Given the description of an element on the screen output the (x, y) to click on. 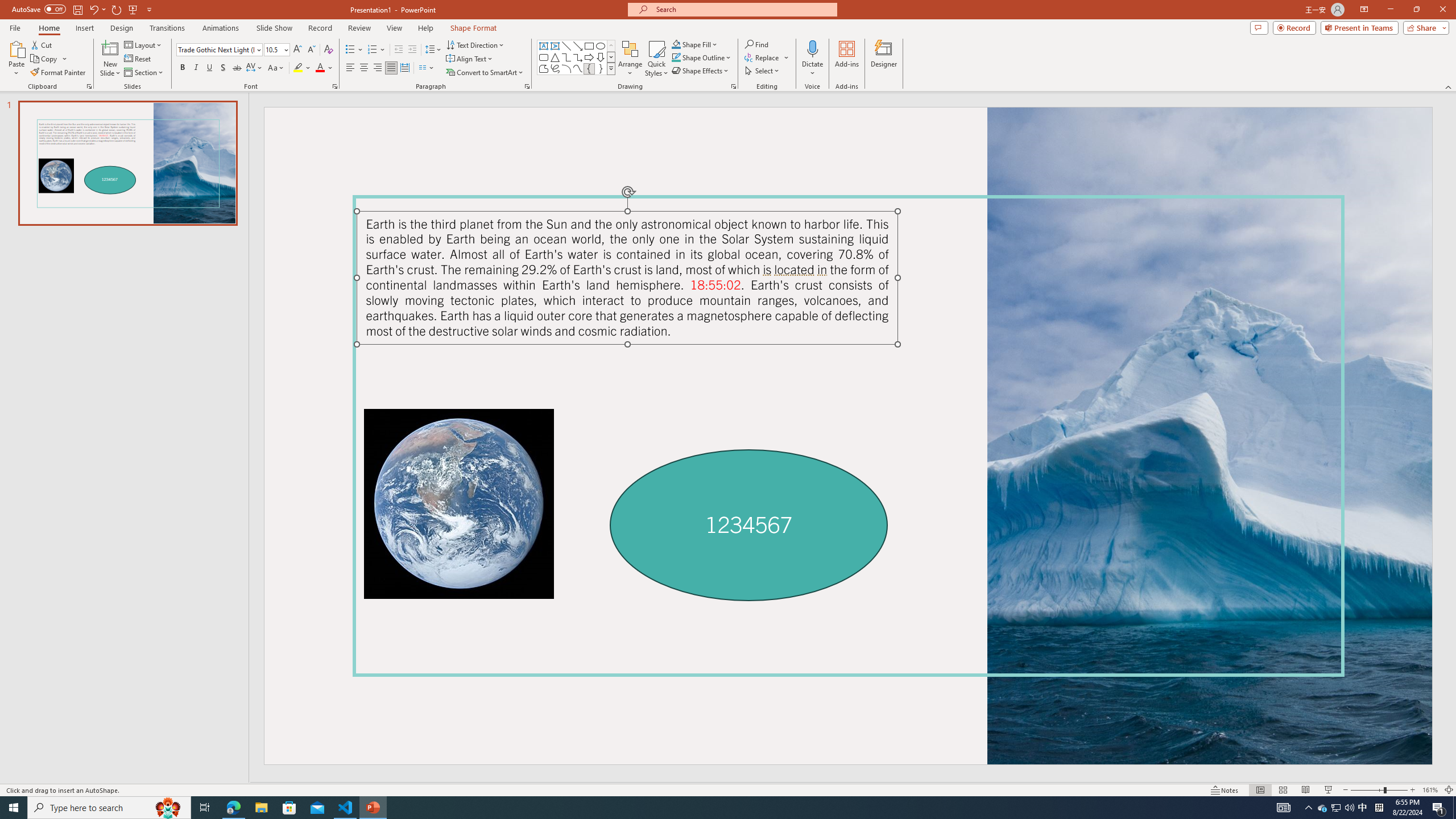
Decrease Font Size (310, 49)
Freeform: Shape (543, 68)
Rectangle (589, 45)
Designer (883, 58)
Paste (16, 58)
Shadow (223, 67)
Align Left (349, 67)
Font (215, 49)
Replace... (762, 56)
Clear Formatting (327, 49)
Italic (195, 67)
